Given the description of an element on the screen output the (x, y) to click on. 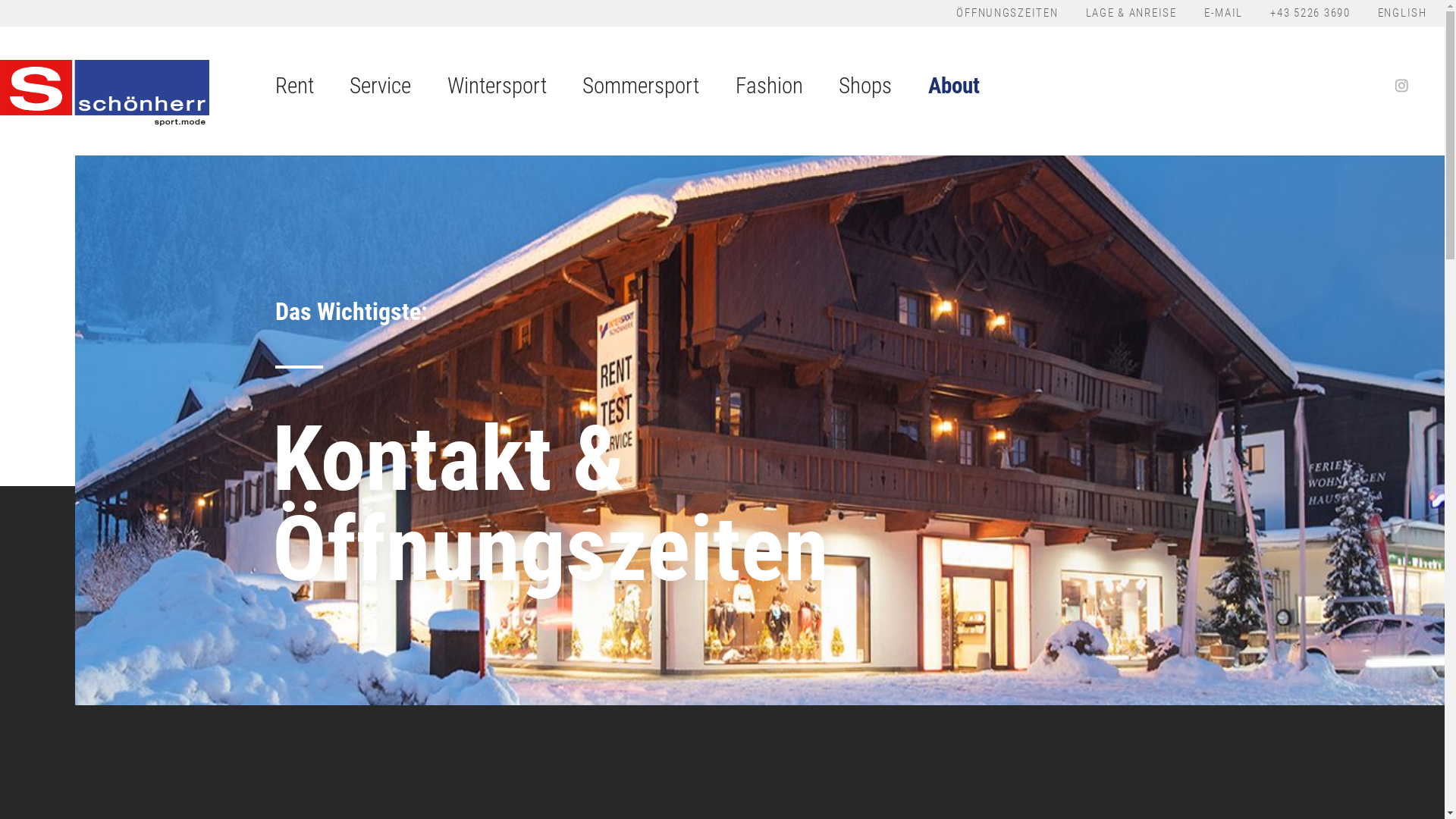
Shops Element type: text (864, 89)
LAGE & ANREISE Element type: text (1131, 13)
E-MAIL Element type: text (1223, 13)
Service Element type: text (380, 89)
Fashion Element type: text (769, 89)
Sommersport Element type: text (640, 89)
Rent Element type: text (293, 89)
About Element type: text (953, 89)
  Element type: text (1365, 86)
ENGLISH Element type: text (1402, 13)
+43 5226 3690 Element type: text (1310, 13)
Wintersport Element type: text (496, 89)
  Element type: text (1401, 86)
